Given the description of an element on the screen output the (x, y) to click on. 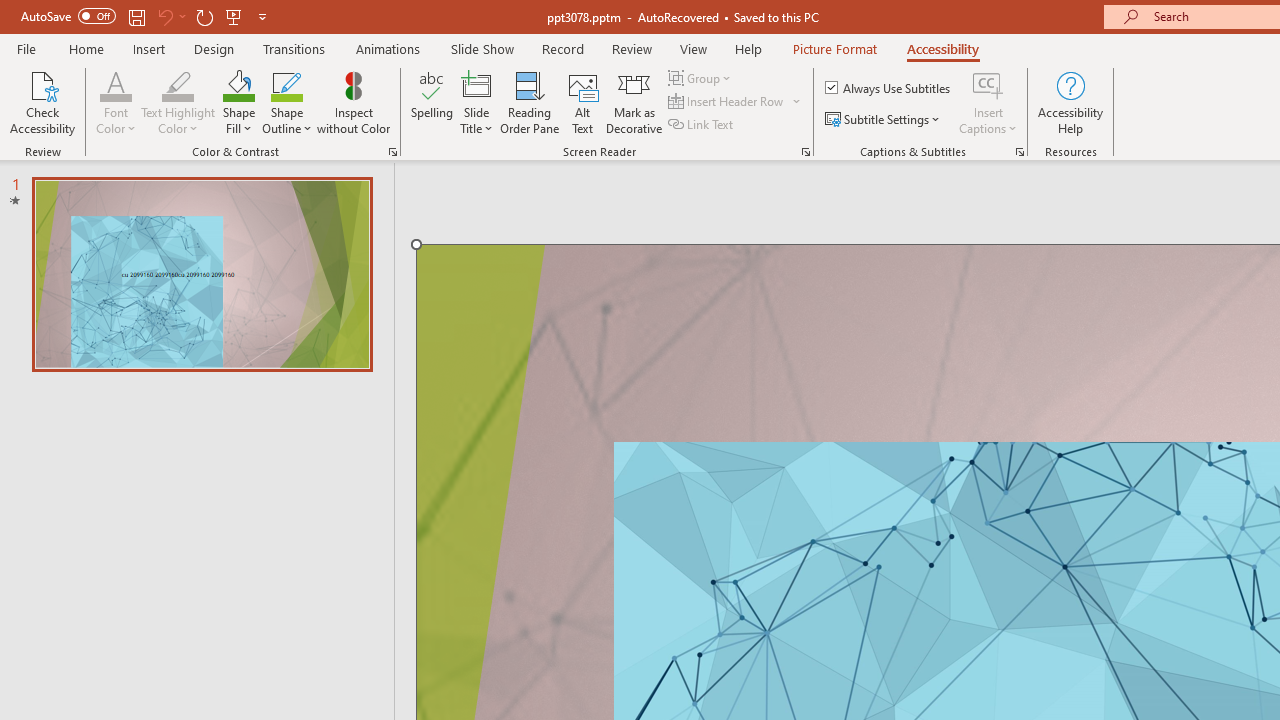
Mark as Decorative (634, 102)
Screen Reader (805, 151)
Captions & Subtitles (1019, 151)
Reading Order Pane (529, 102)
